Given the description of an element on the screen output the (x, y) to click on. 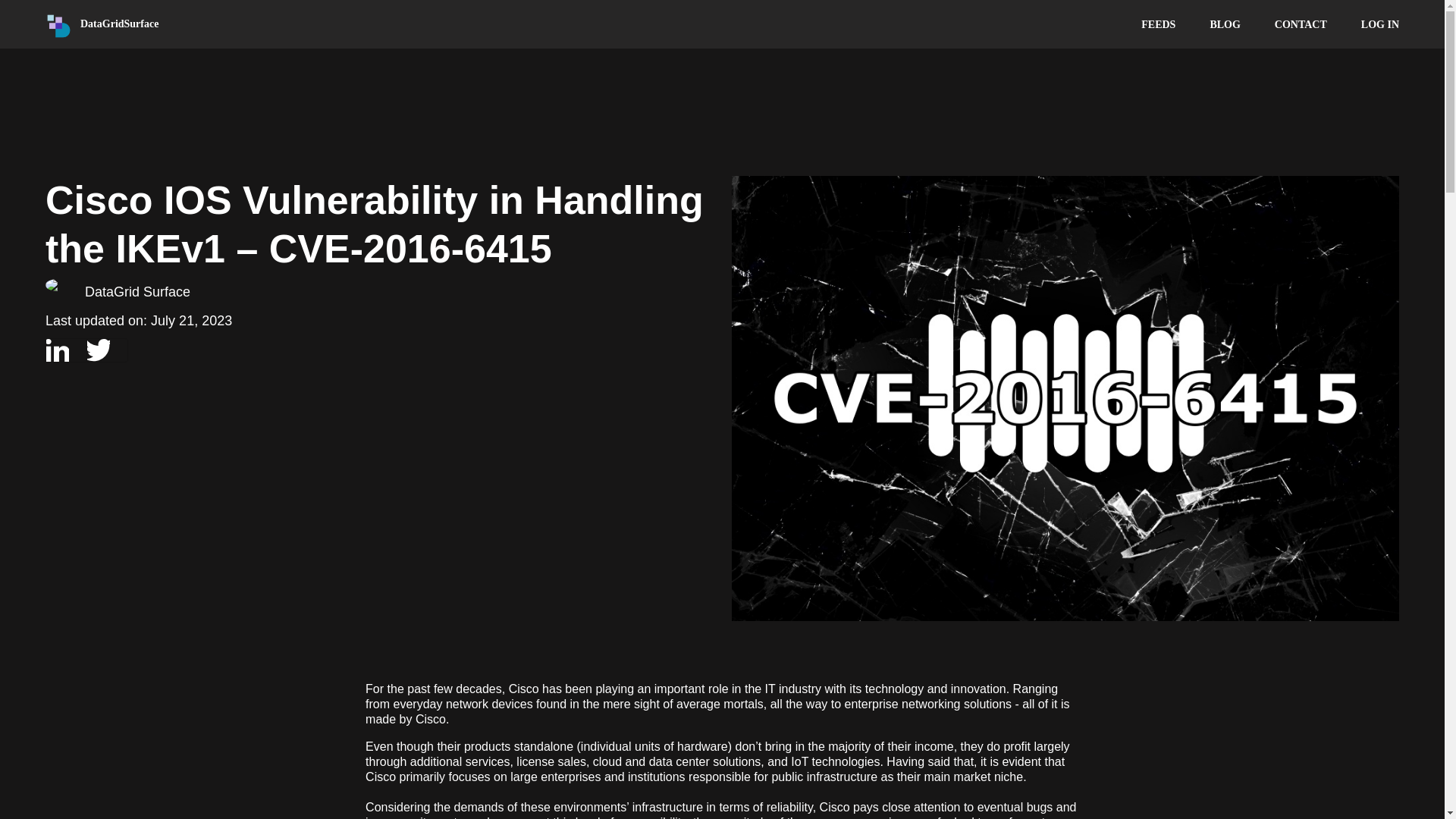
CONTACT (1300, 23)
LOG IN (1380, 23)
DataGridSurface (119, 23)
FEEDS (1157, 23)
BLOG (1224, 23)
